Given the description of an element on the screen output the (x, y) to click on. 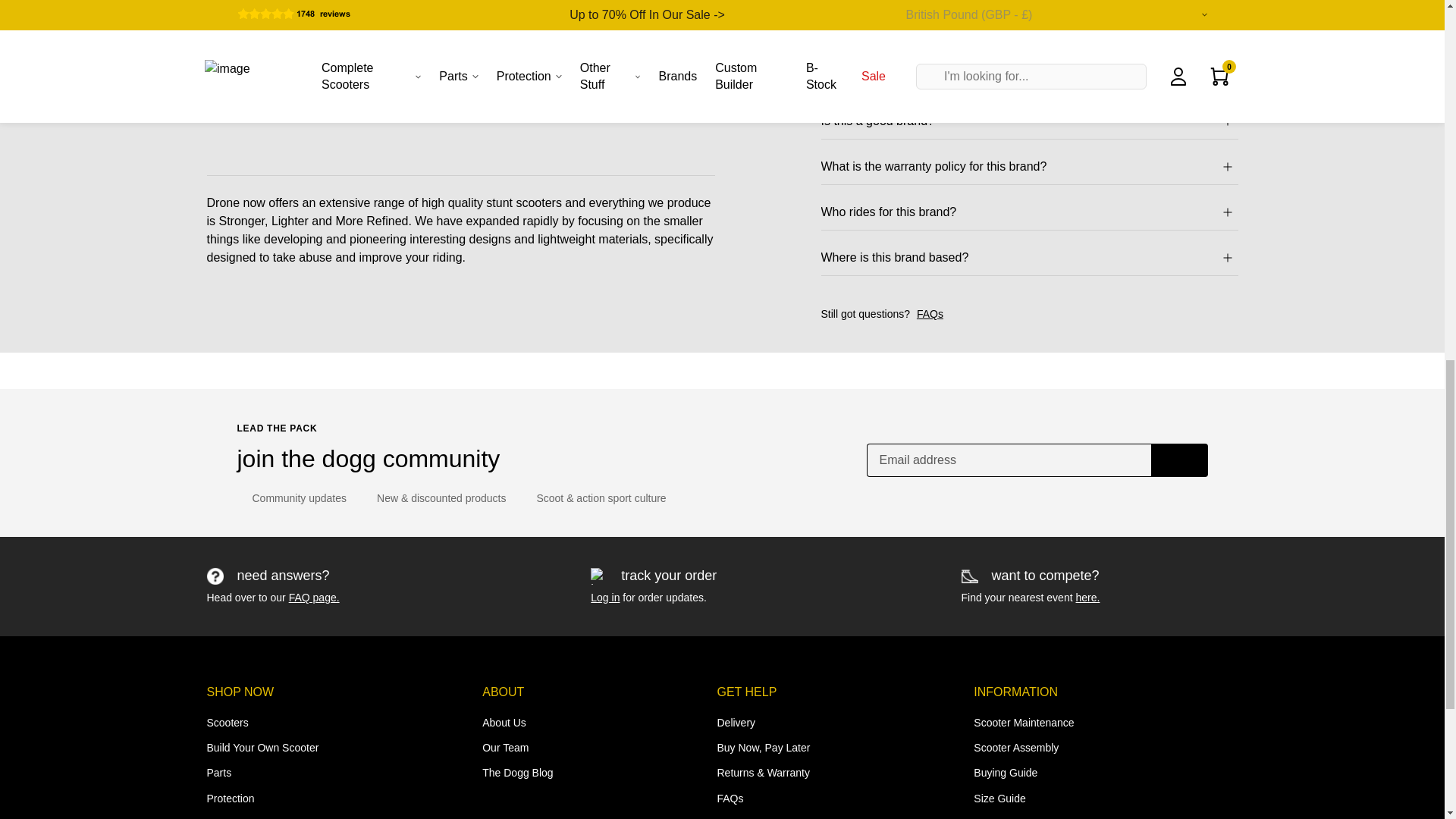
Dogg Branded Tee - Black (590, 410)
Dogg Scooters Multi Tool (1118, 410)
Dogg Shadow Hoodie - Black (326, 410)
FAQ Overview (313, 597)
Dogg Shadow Hoodie - Black (326, 256)
Dogg Scooters Multi Tool (1118, 256)
Dogg Branded Tee - Black (590, 256)
